Given the description of an element on the screen output the (x, y) to click on. 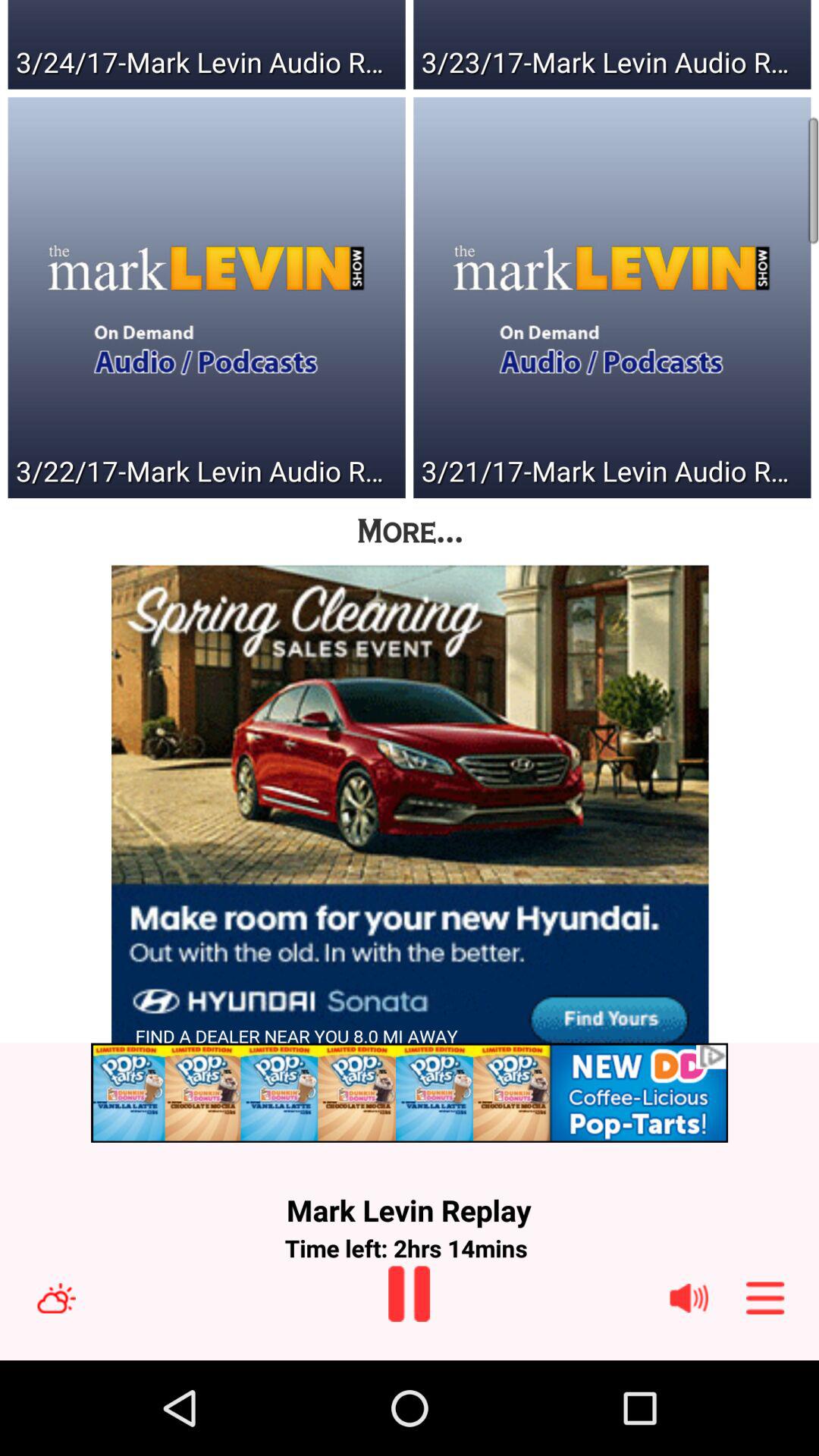
switch to weather option (56, 1298)
